Given the description of an element on the screen output the (x, y) to click on. 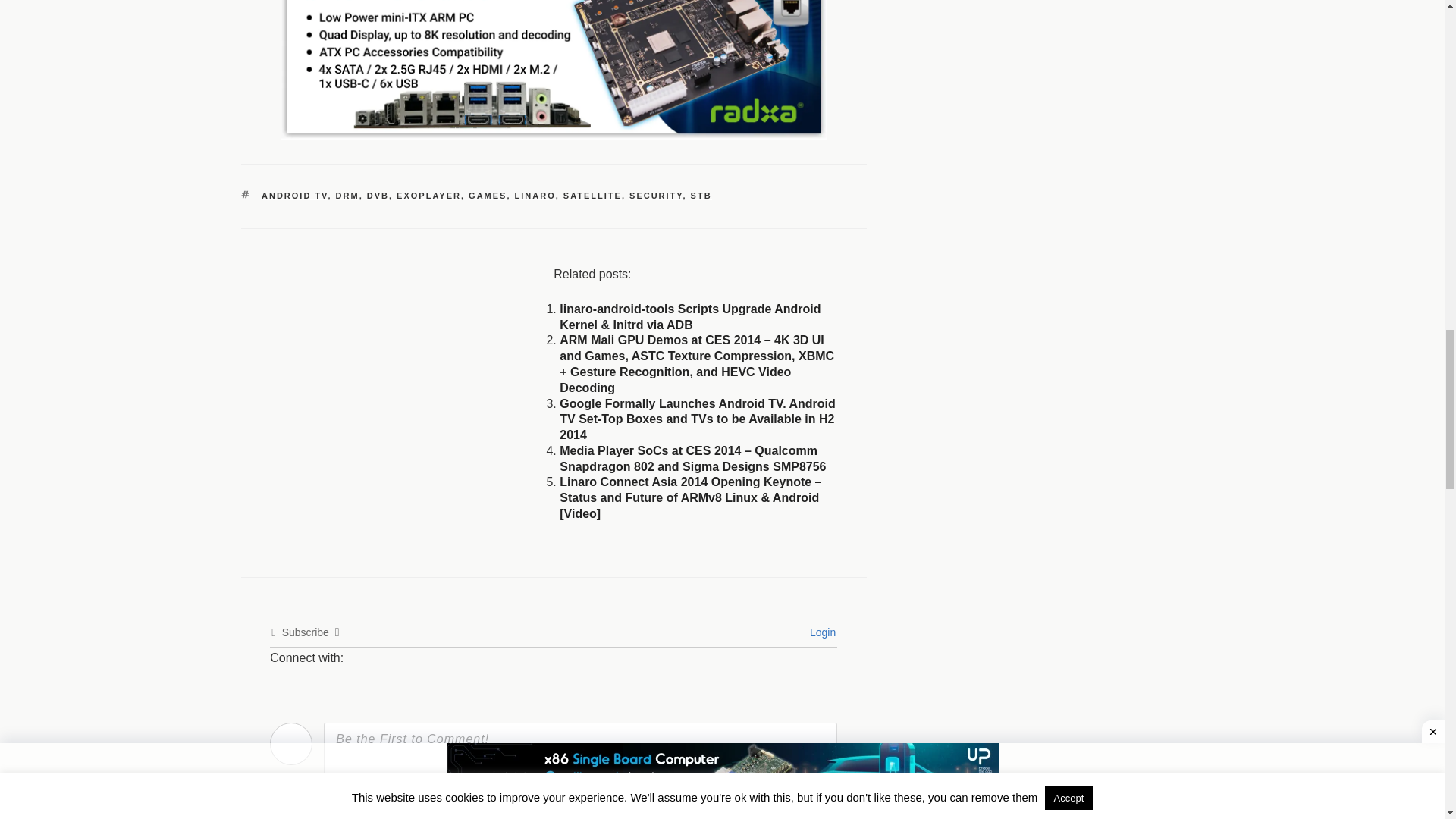
1 (686, 815)
